Given the description of an element on the screen output the (x, y) to click on. 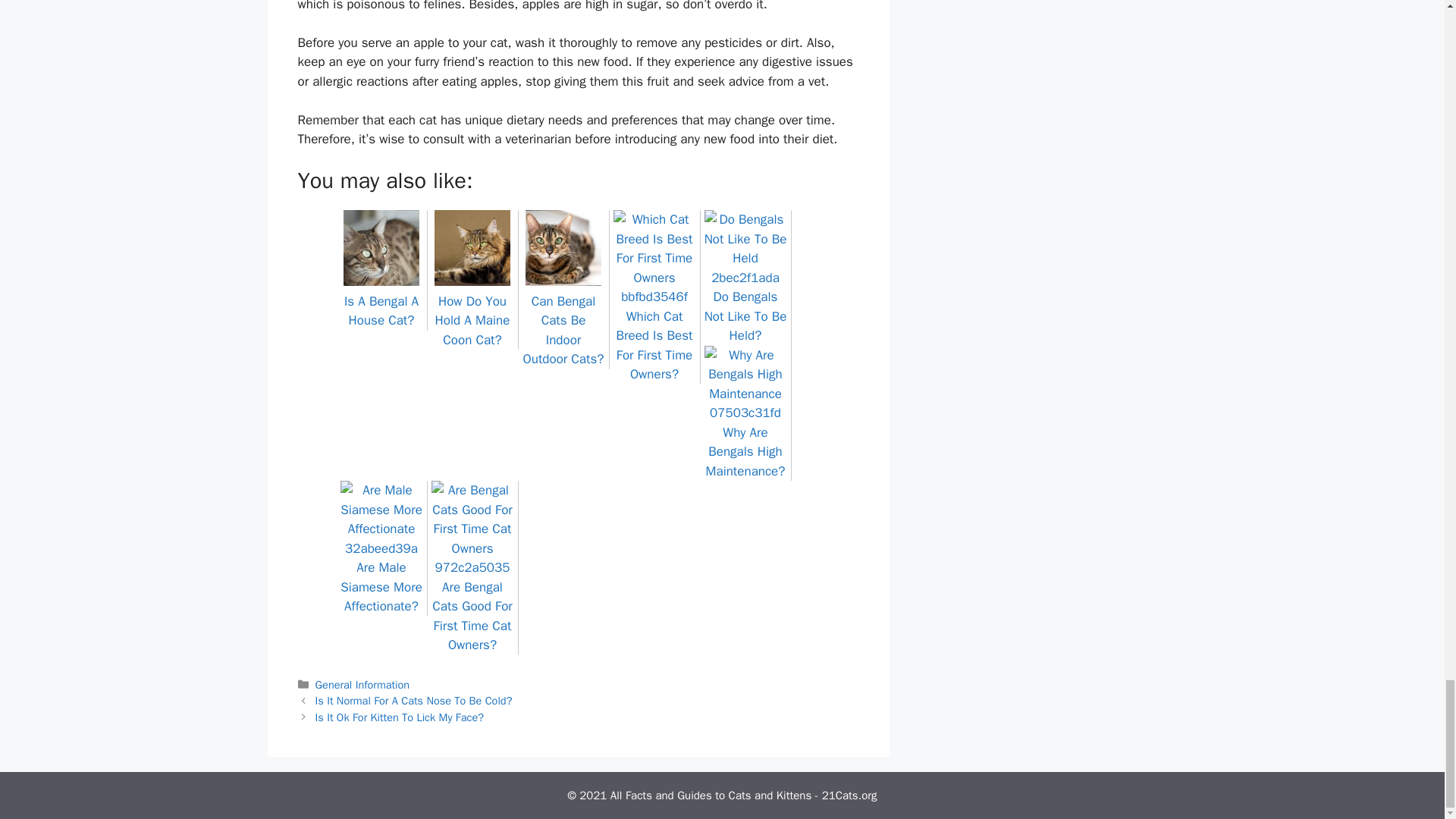
Do Bengals Not Like To Be Held? 5 (744, 248)
Can Bengal Cats Be Indoor Outdoor Cats? 3 (563, 247)
Are Male Siamese More Affectionate? 7 (380, 518)
Is A Bengal A House Cat? 1 (381, 247)
Are Male Siamese More Affectionate? (380, 577)
Is It Ok For Kitten To Lick My Face? (399, 716)
Do Bengals Not Like To Be Held? (744, 306)
Why Are Bengals High Maintenance? (744, 441)
Why Are Bengals High Maintenance? 6 (744, 384)
How Do You Hold A Maine Coon Cat? 2 (472, 247)
